Given the description of an element on the screen output the (x, y) to click on. 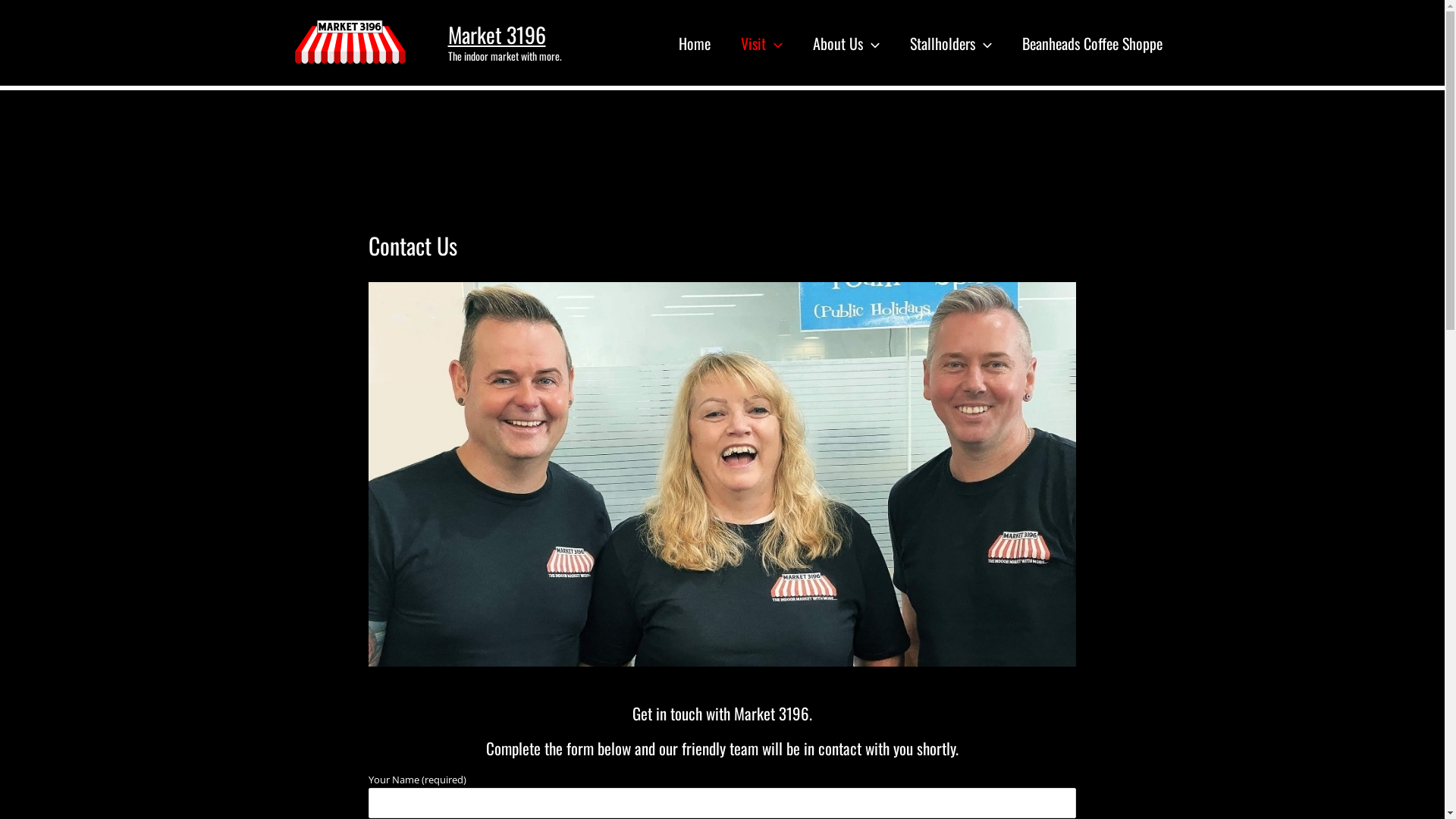
Visit Element type: text (760, 42)
About Us Element type: text (845, 42)
Stallholders Element type: text (950, 42)
Market 3196 Element type: text (496, 34)
Beanheads Coffee Shoppe Element type: text (1092, 42)
Home Element type: text (693, 42)
